Given the description of an element on the screen output the (x, y) to click on. 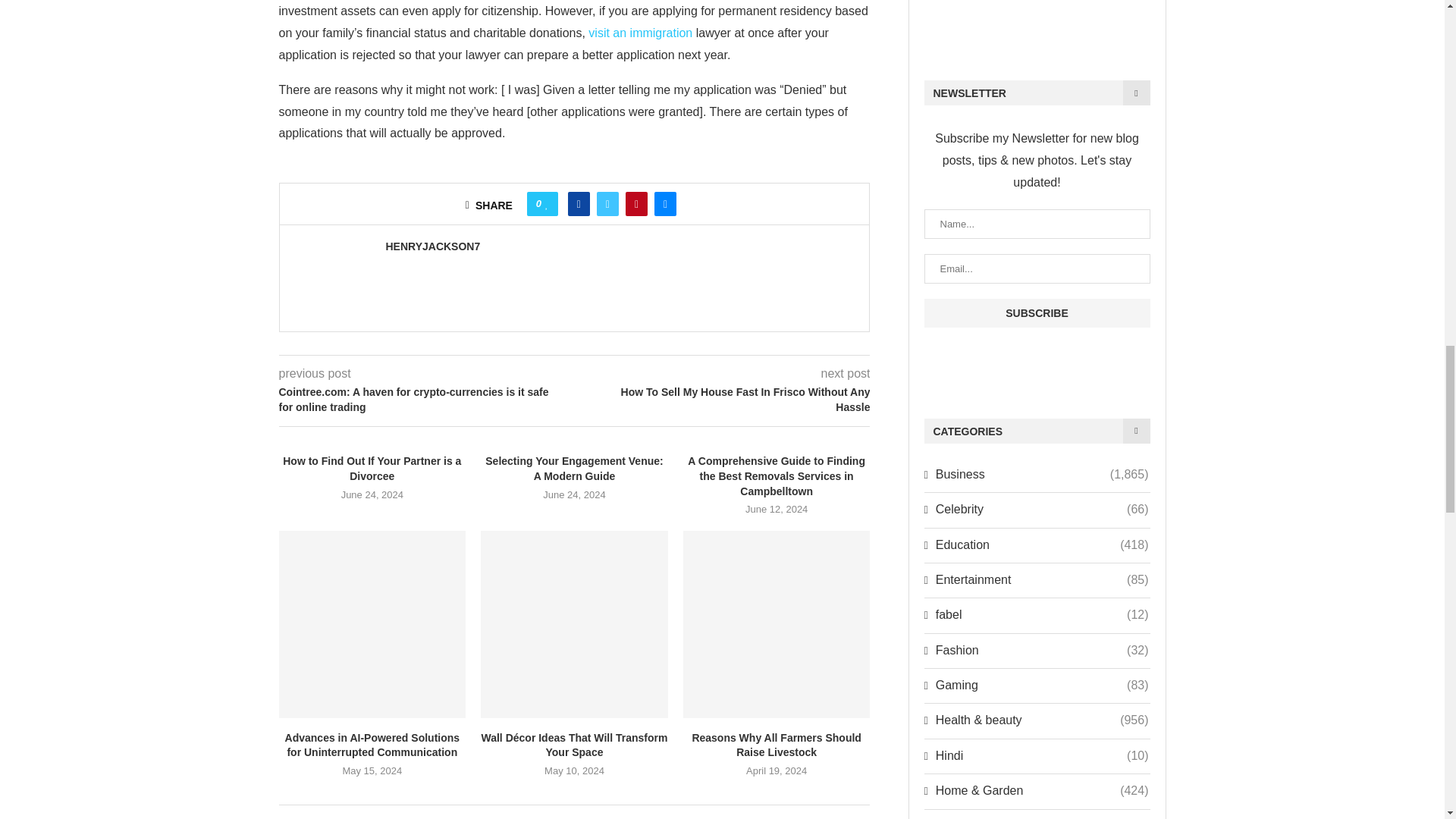
Subscribe (1036, 312)
Like (546, 203)
visit an immigration (640, 32)
How to Find Out If Your Partner is a Divorcee (371, 468)
Author henryjackson7 (432, 246)
Reasons Why All Farmers Should Raise Livestock (776, 624)
HENRYJACKSON7 (432, 246)
Selecting Your Engagement Venue: A Modern Guide (573, 468)
How To Sell My House Fast In Frisco Without Any Hassle (722, 399)
